Given the description of an element on the screen output the (x, y) to click on. 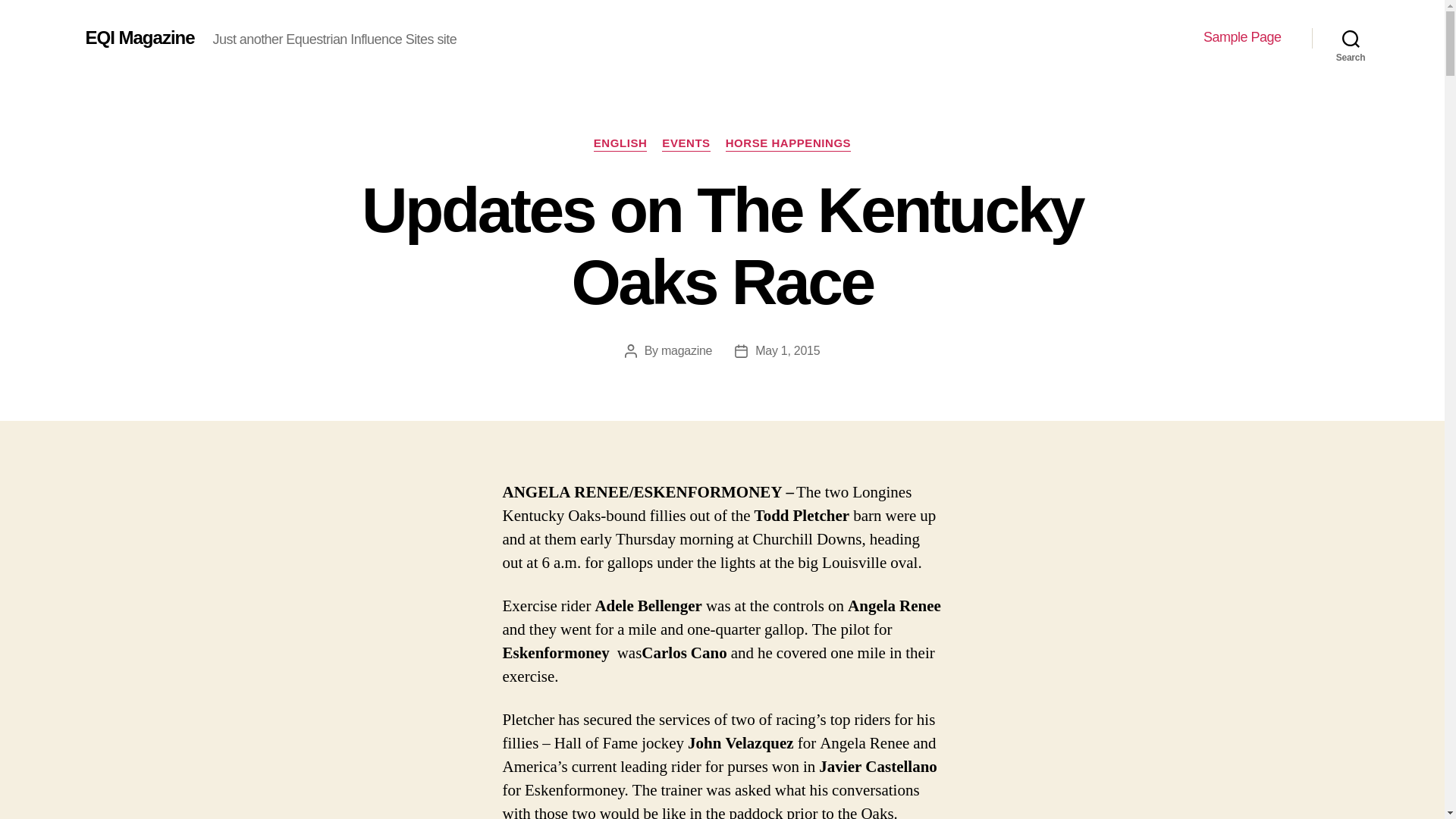
EVENTS (686, 143)
EQI Magazine (138, 37)
Sample Page (1242, 37)
May 1, 2015 (787, 350)
magazine (686, 350)
HORSE HAPPENINGS (788, 143)
ENGLISH (620, 143)
Search (1350, 37)
